Given the description of an element on the screen output the (x, y) to click on. 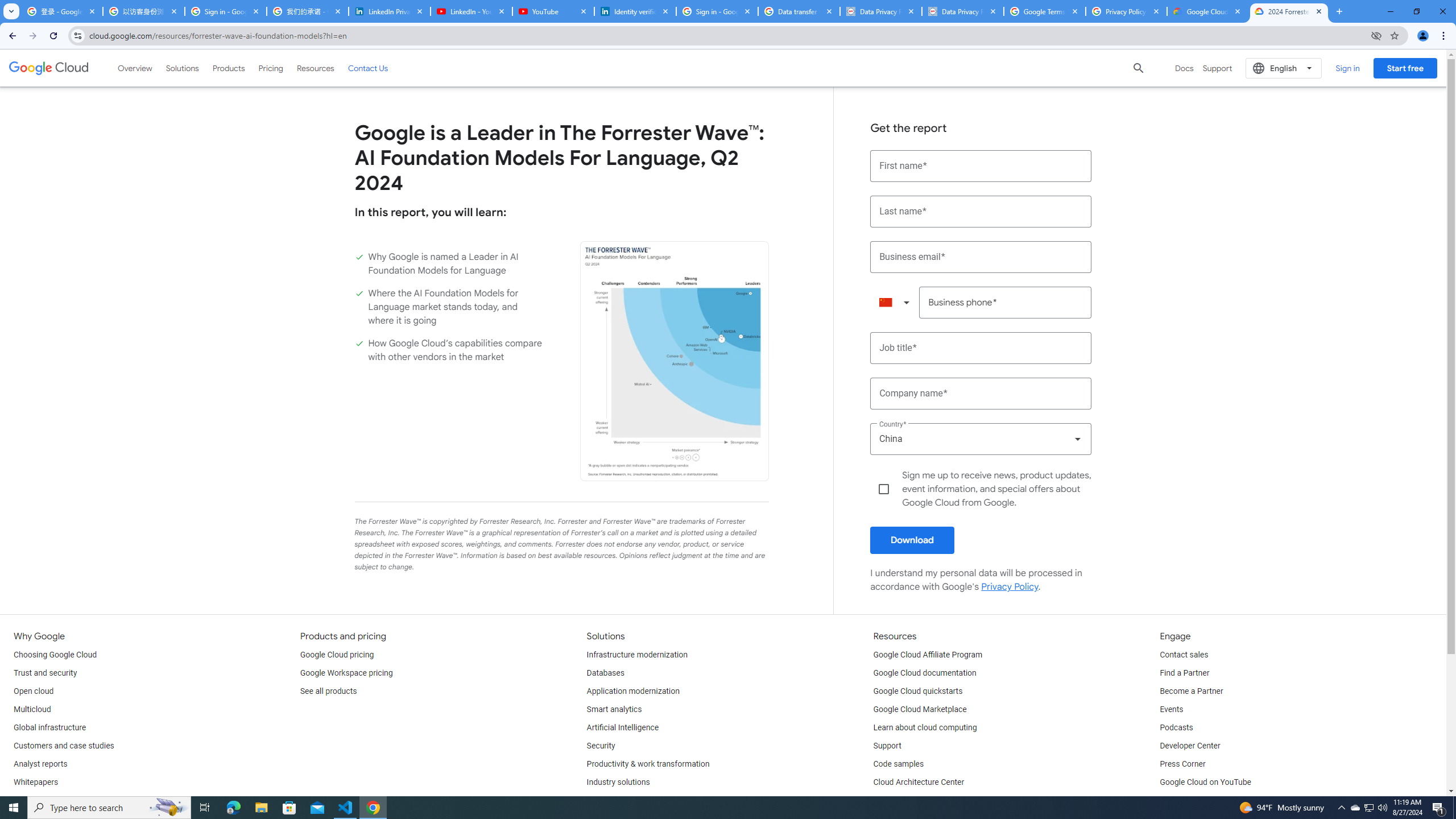
Pricing (270, 67)
Cloud Architecture Center (918, 782)
Developer Center (1189, 746)
Smart analytics (614, 710)
Security (600, 746)
Productivity & work transformation (648, 764)
Analyst reports (39, 764)
Databases (605, 673)
